Given the description of an element on the screen output the (x, y) to click on. 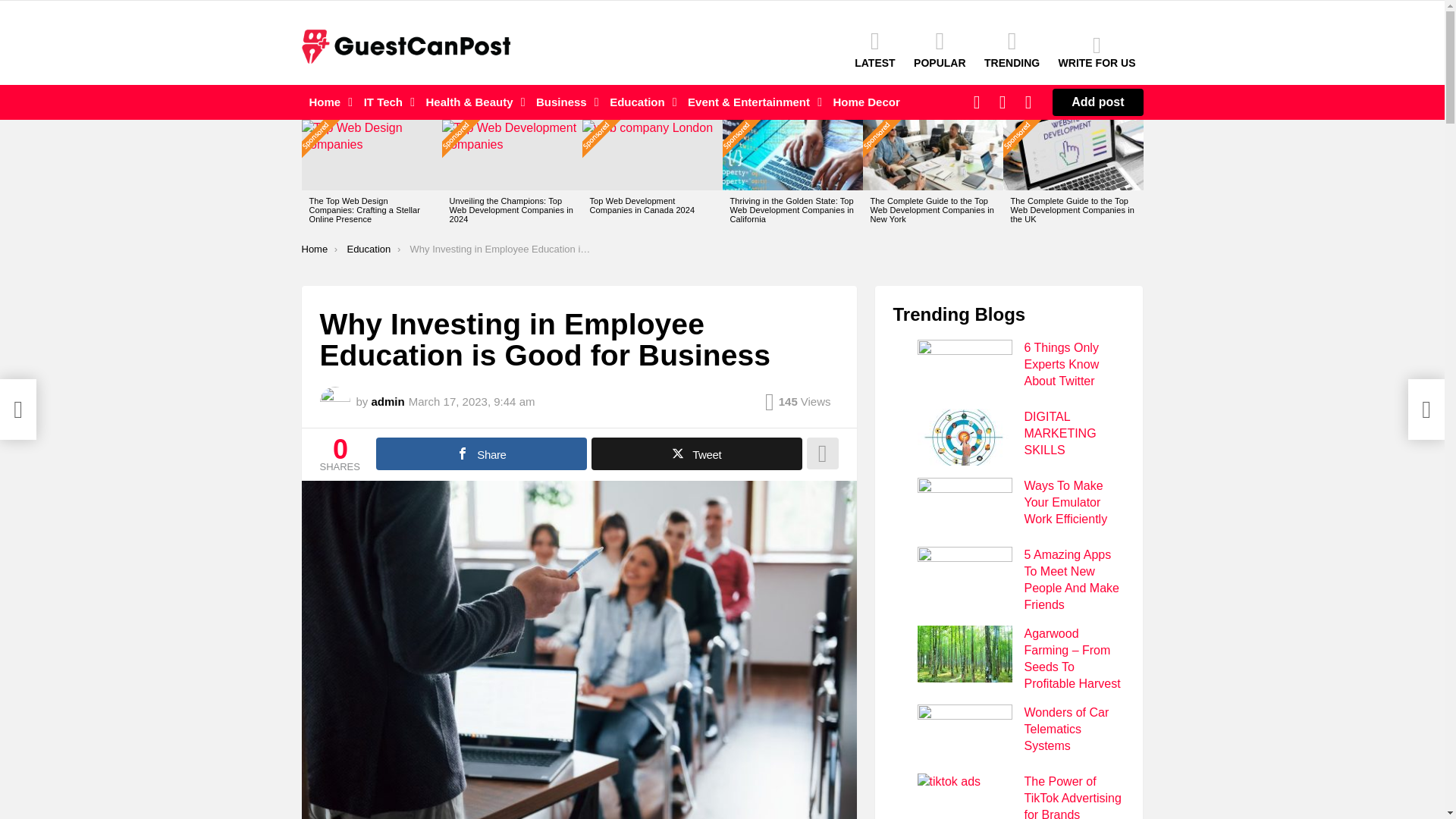
LATEST (874, 48)
Education (639, 101)
IT Tech (385, 101)
POPULAR (938, 48)
Home Decor (866, 101)
Home (327, 101)
TRENDING (1011, 48)
Business (563, 101)
WRITE FOR US (1096, 51)
Top Web Development Companies in Canada 2024 (652, 154)
Posts by admin (387, 400)
